Given the description of an element on the screen output the (x, y) to click on. 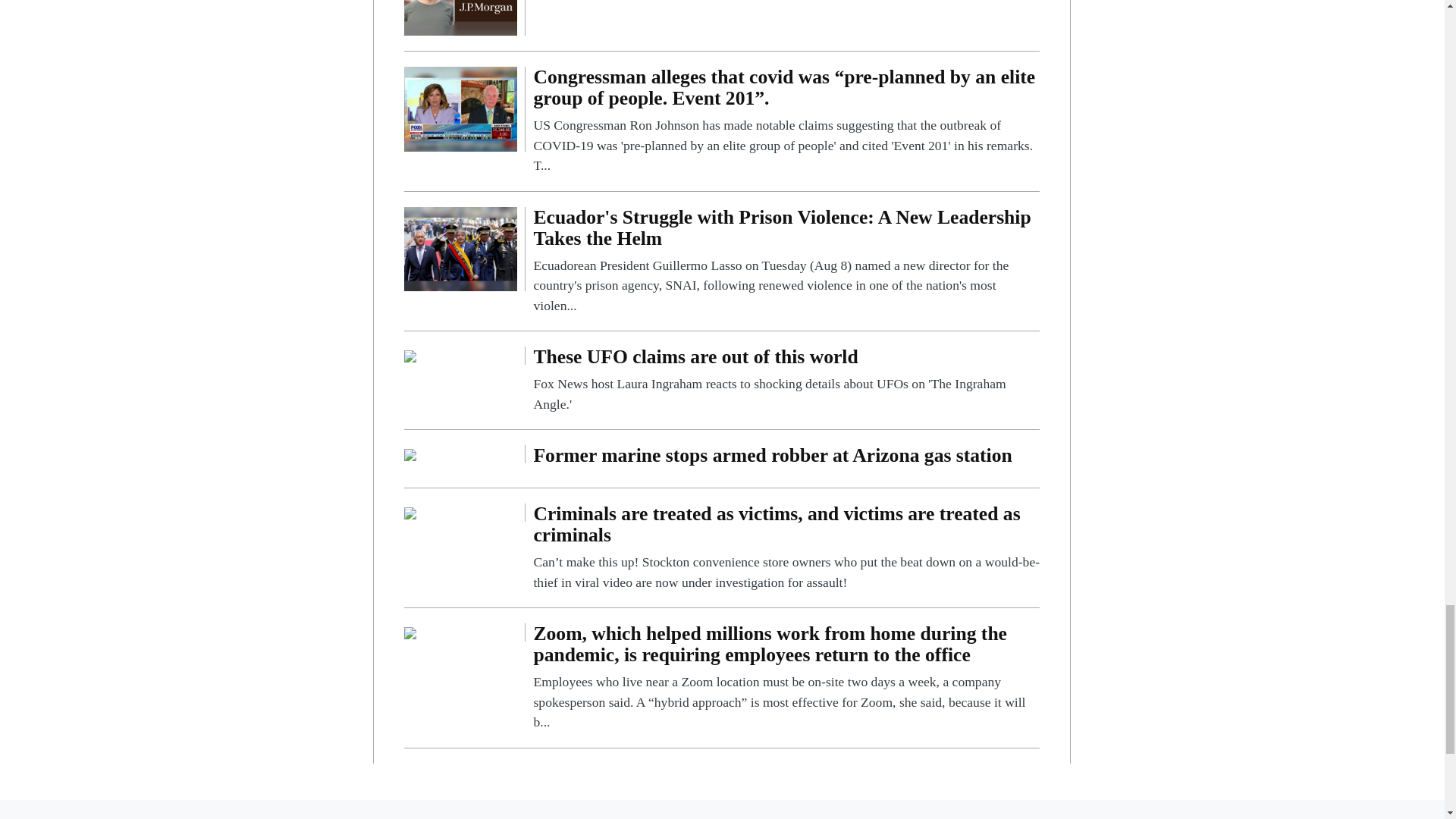
Former marine stops armed robber at Arizona gas station (785, 458)
Former marine stops armed robber at Arizona gas station (785, 458)
These UFO claims are out of this world (410, 354)
These UFO claims are out of this world (785, 380)
Former marine stops armed robber at Arizona gas station (410, 453)
